Given the description of an element on the screen output the (x, y) to click on. 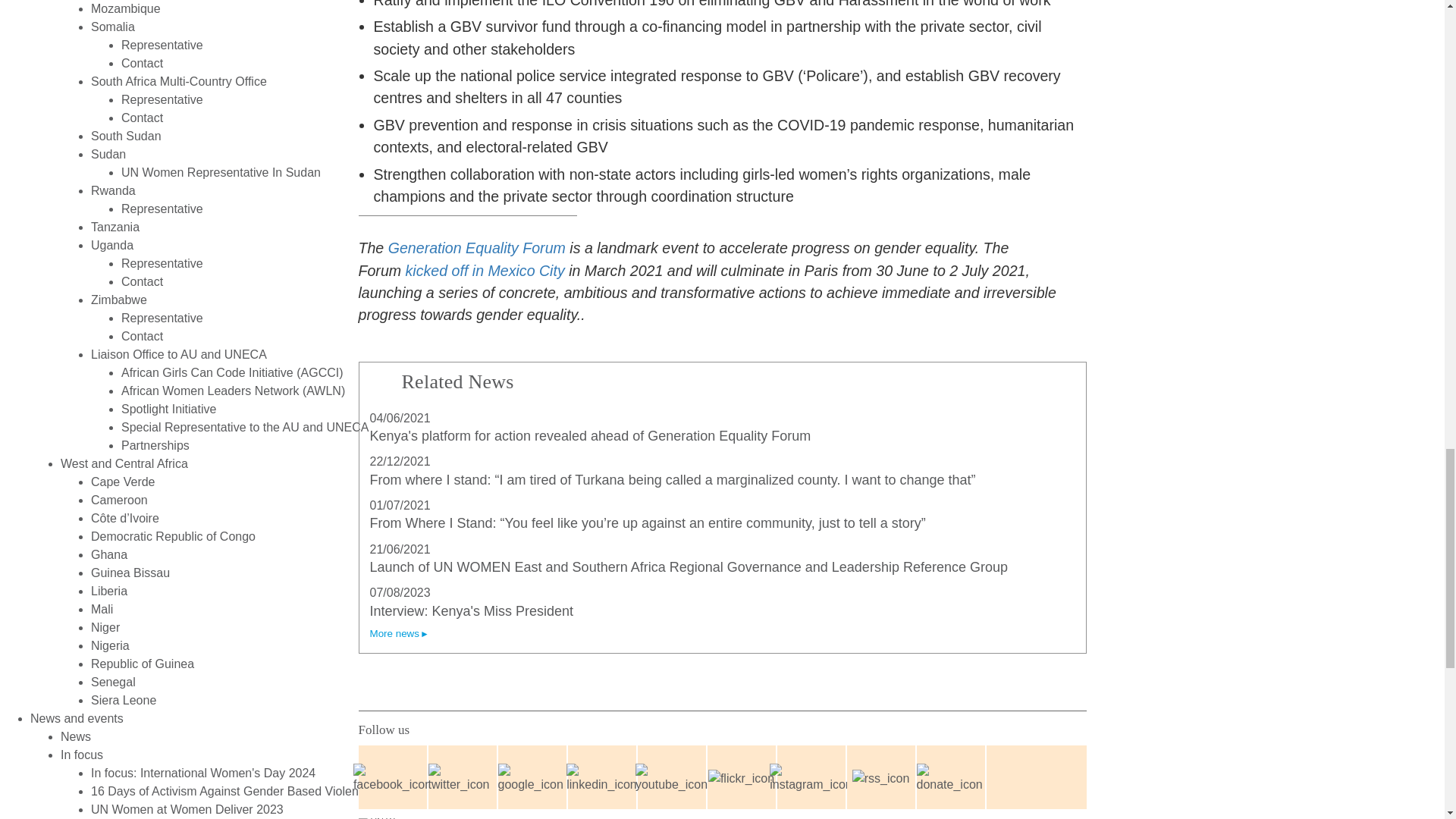
News feed (879, 778)
UN Women (387, 818)
Contact for UN Women South Africa Multi Country Office (141, 117)
UN Women Representative in South Africa Multi Country Office (161, 99)
UN Women Representative in Rwanda (161, 208)
